Given the description of an element on the screen output the (x, y) to click on. 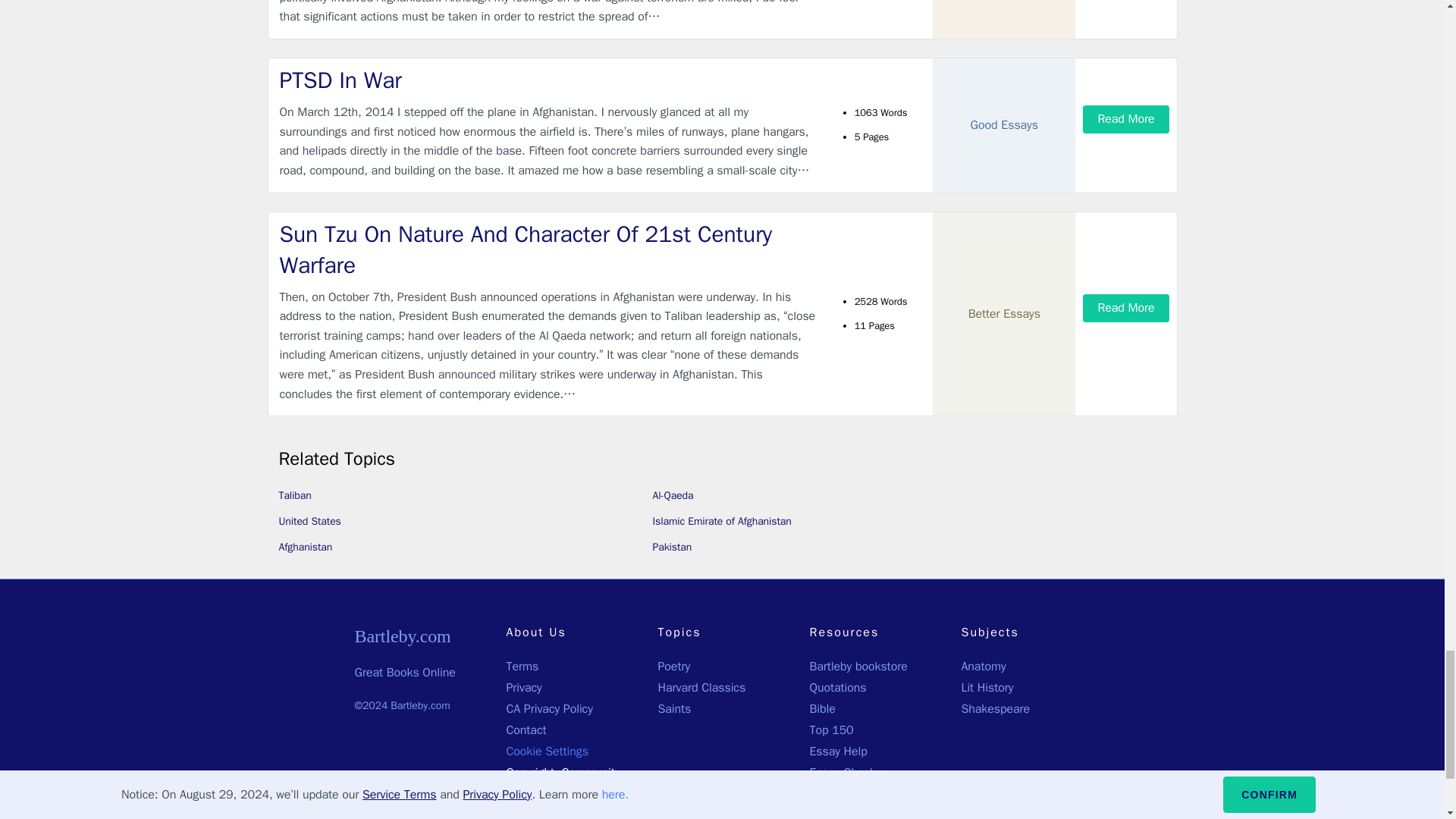
United States (309, 521)
Afghanistan (306, 546)
Islamic Emirate of Afghanistan (721, 521)
Taliban (295, 495)
Pakistan (671, 546)
Al-Qaeda (672, 495)
